Given the description of an element on the screen output the (x, y) to click on. 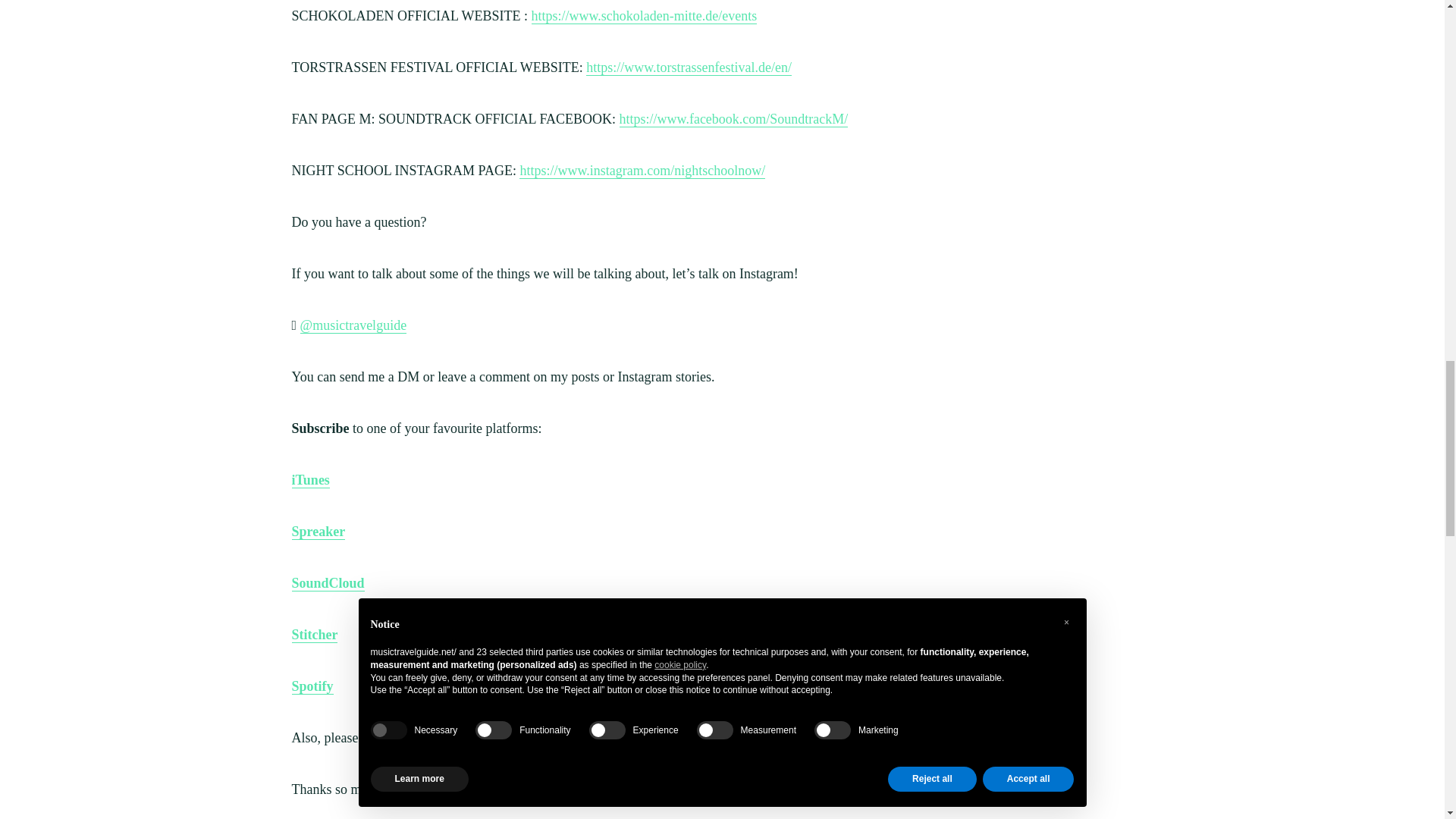
subscribe to the show on iTunes (453, 738)
SoundCloud (327, 583)
iTunes (310, 480)
Spreaker (318, 531)
Stitcher (314, 634)
Spotify (312, 686)
